Given the description of an element on the screen output the (x, y) to click on. 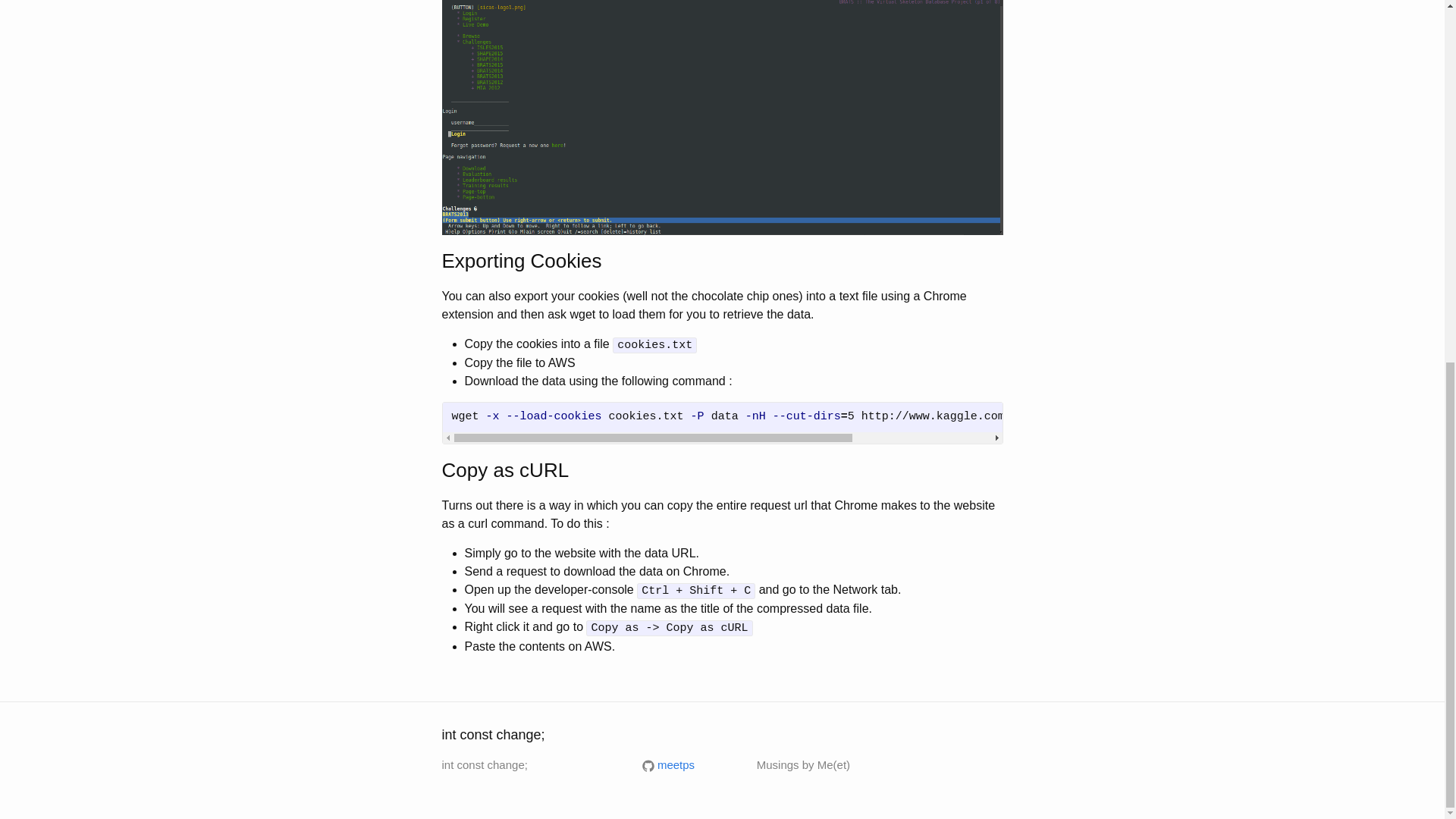
meetps (668, 764)
